Given the description of an element on the screen output the (x, y) to click on. 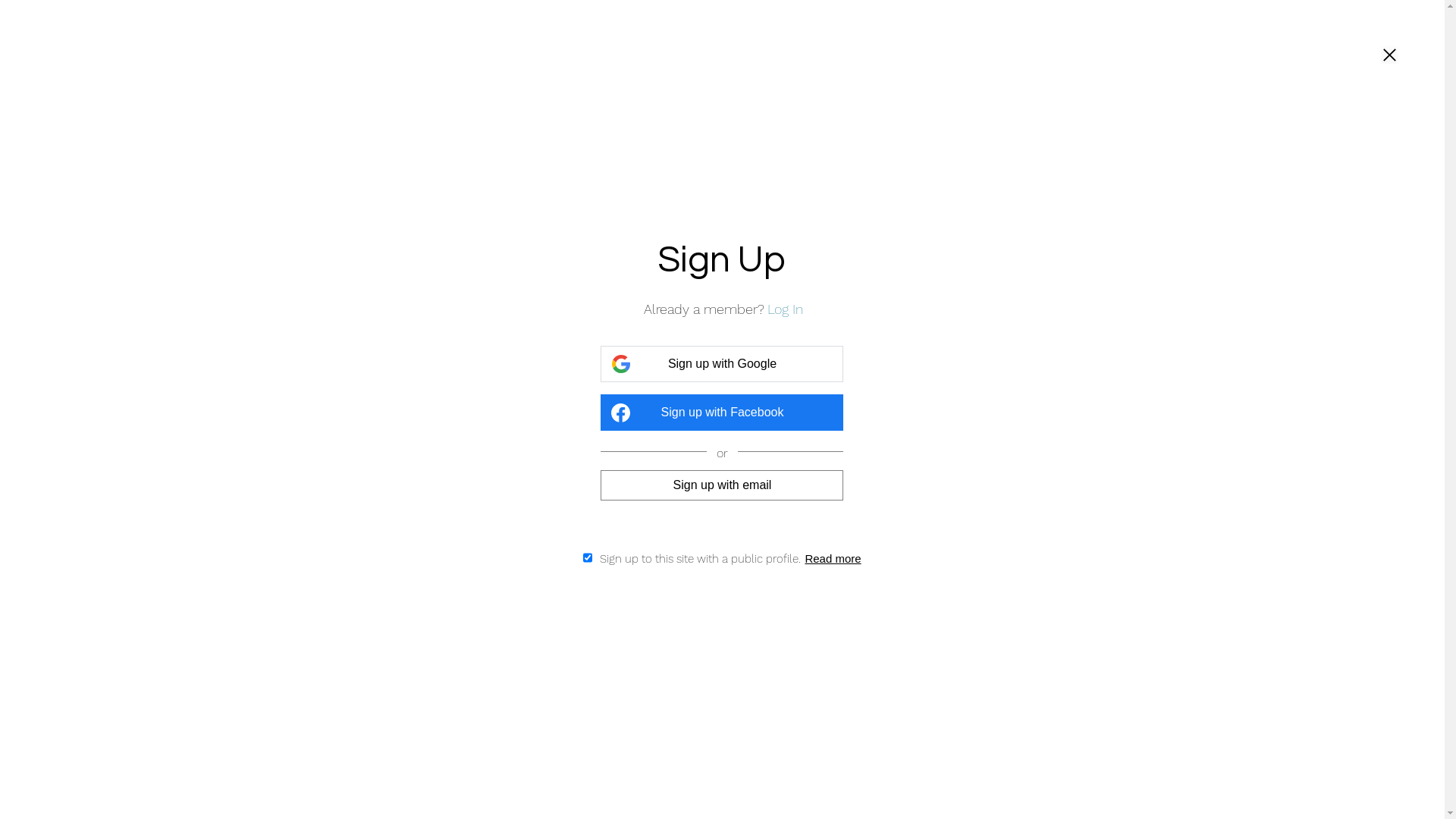
Log In Element type: text (784, 309)
Read more Element type: text (830, 558)
Sign up with Facebook Element type: text (721, 412)
Sign up with Google Element type: text (721, 363)
Sign up with email Element type: text (721, 485)
